Given the description of an element on the screen output the (x, y) to click on. 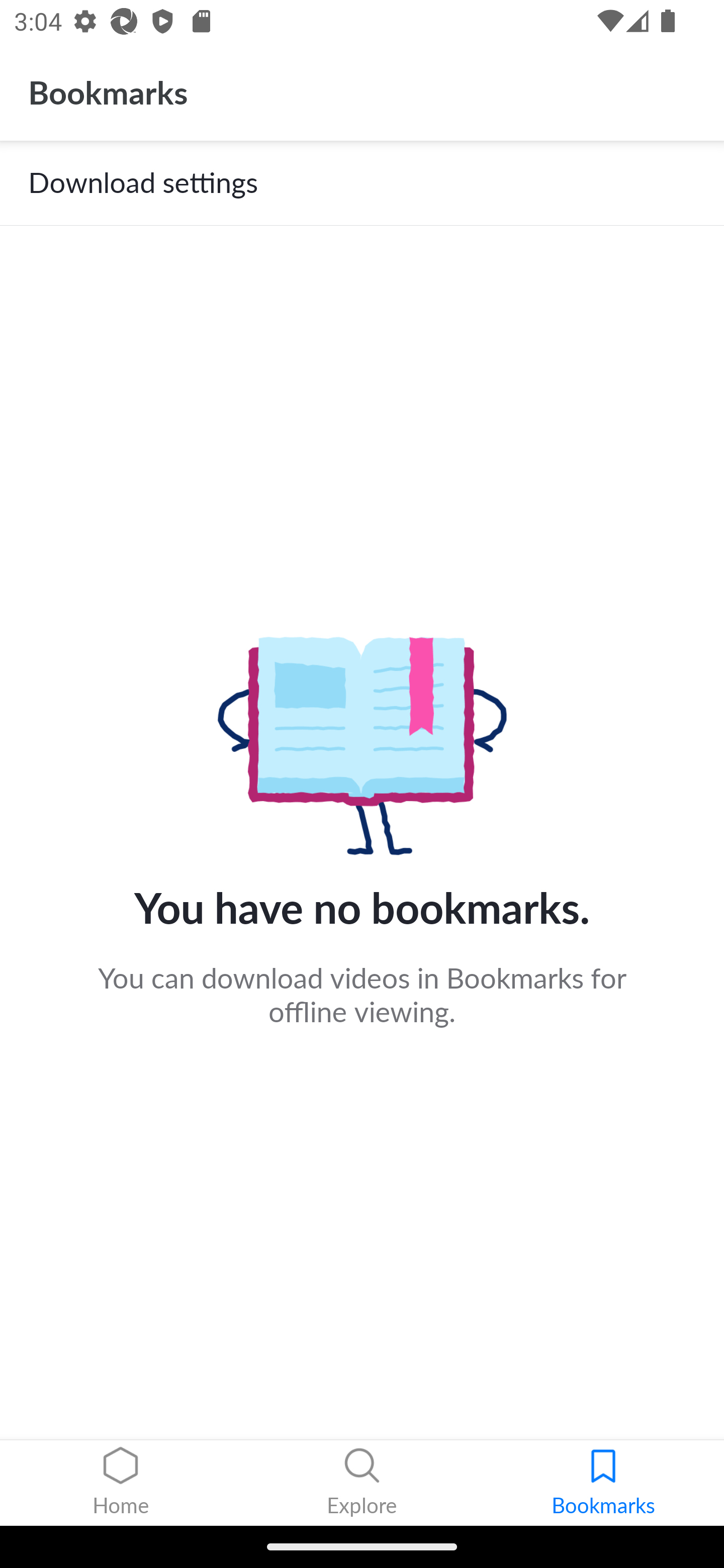
Download settings (362, 183)
Home (120, 1482)
Explore (361, 1482)
Bookmarks (603, 1482)
